Given the description of an element on the screen output the (x, y) to click on. 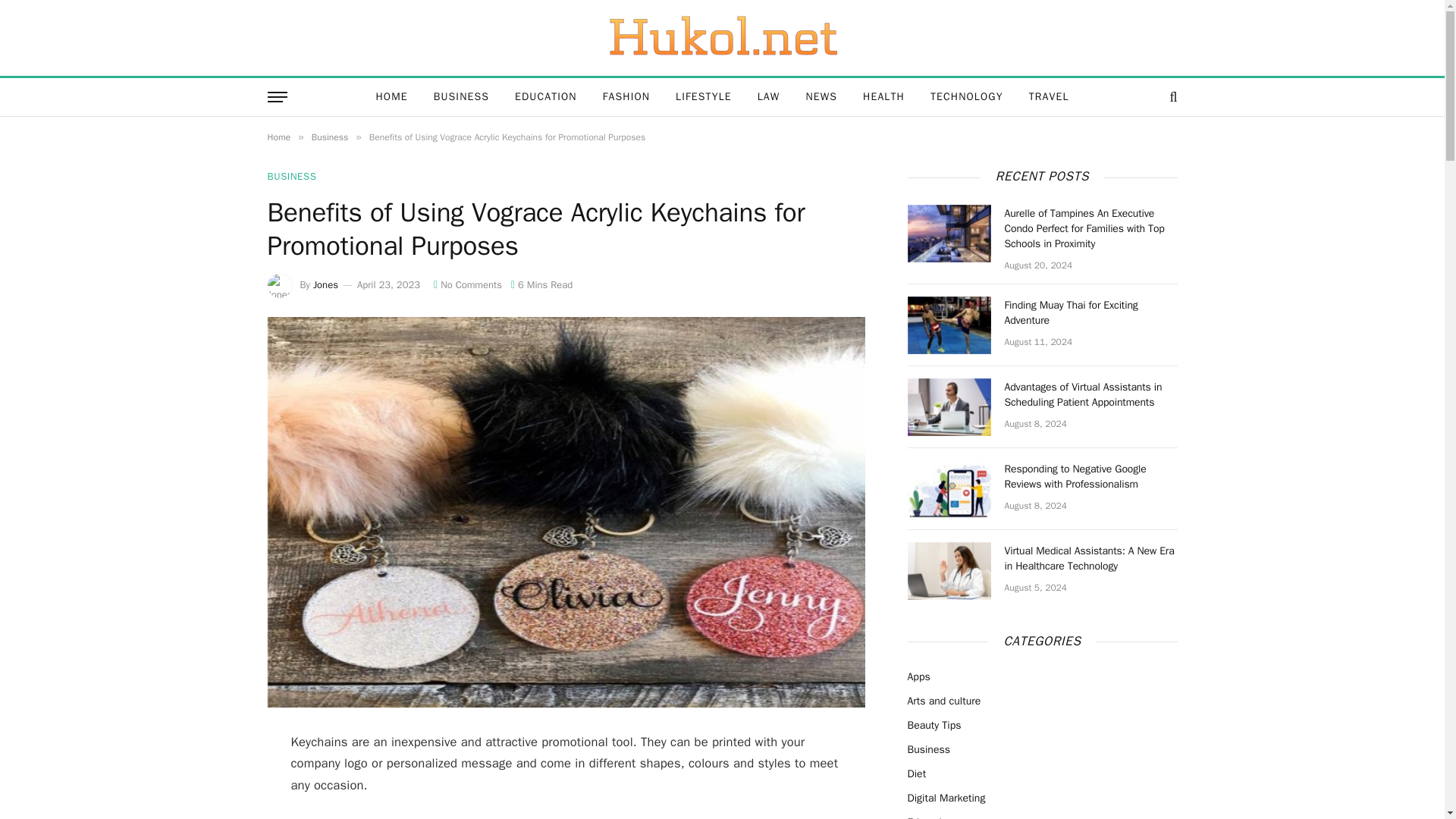
No Comments (467, 284)
TECHNOLOGY (966, 96)
Jones (325, 284)
LAW (768, 96)
Posts by Jones (325, 284)
FASHION (625, 96)
Hukol.net (721, 37)
HEALTH (883, 96)
EDUCATION (545, 96)
